Given the description of an element on the screen output the (x, y) to click on. 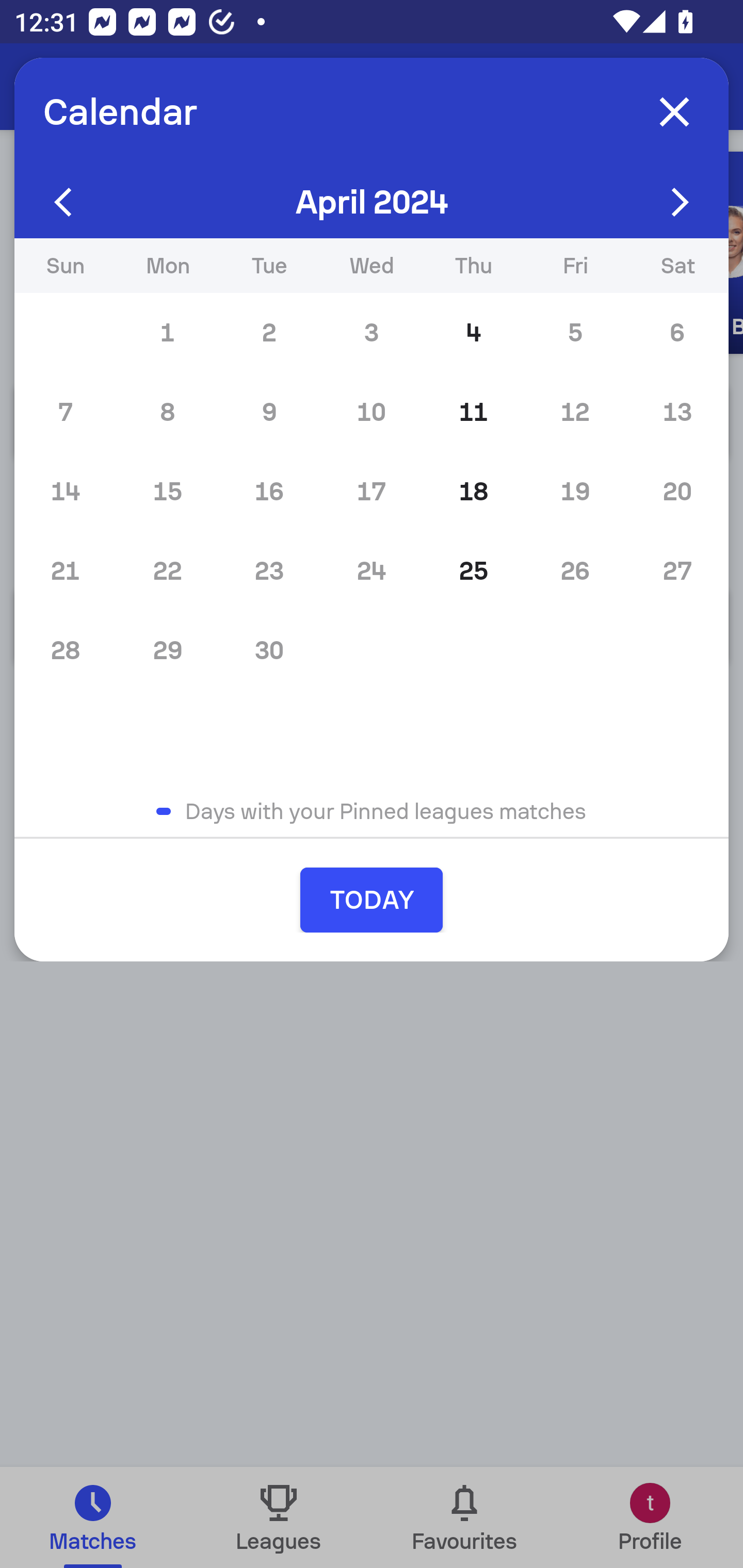
1 (167, 333)
2 (269, 333)
3 (371, 333)
4 (473, 333)
5 (575, 333)
6 (677, 333)
7 (65, 412)
8 (167, 412)
9 (269, 412)
10 (371, 412)
11 (473, 412)
12 (575, 412)
13 (677, 412)
14 (65, 491)
15 (167, 491)
16 (269, 491)
17 (371, 491)
18 (473, 491)
19 (575, 491)
20 (677, 491)
21 (65, 570)
22 (167, 570)
23 (269, 570)
24 (371, 570)
25 (473, 570)
26 (575, 570)
27 (677, 570)
28 (65, 649)
29 (167, 649)
30 (269, 649)
TODAY (371, 899)
Leagues (278, 1517)
Favourites (464, 1517)
Profile (650, 1517)
